Given the description of an element on the screen output the (x, y) to click on. 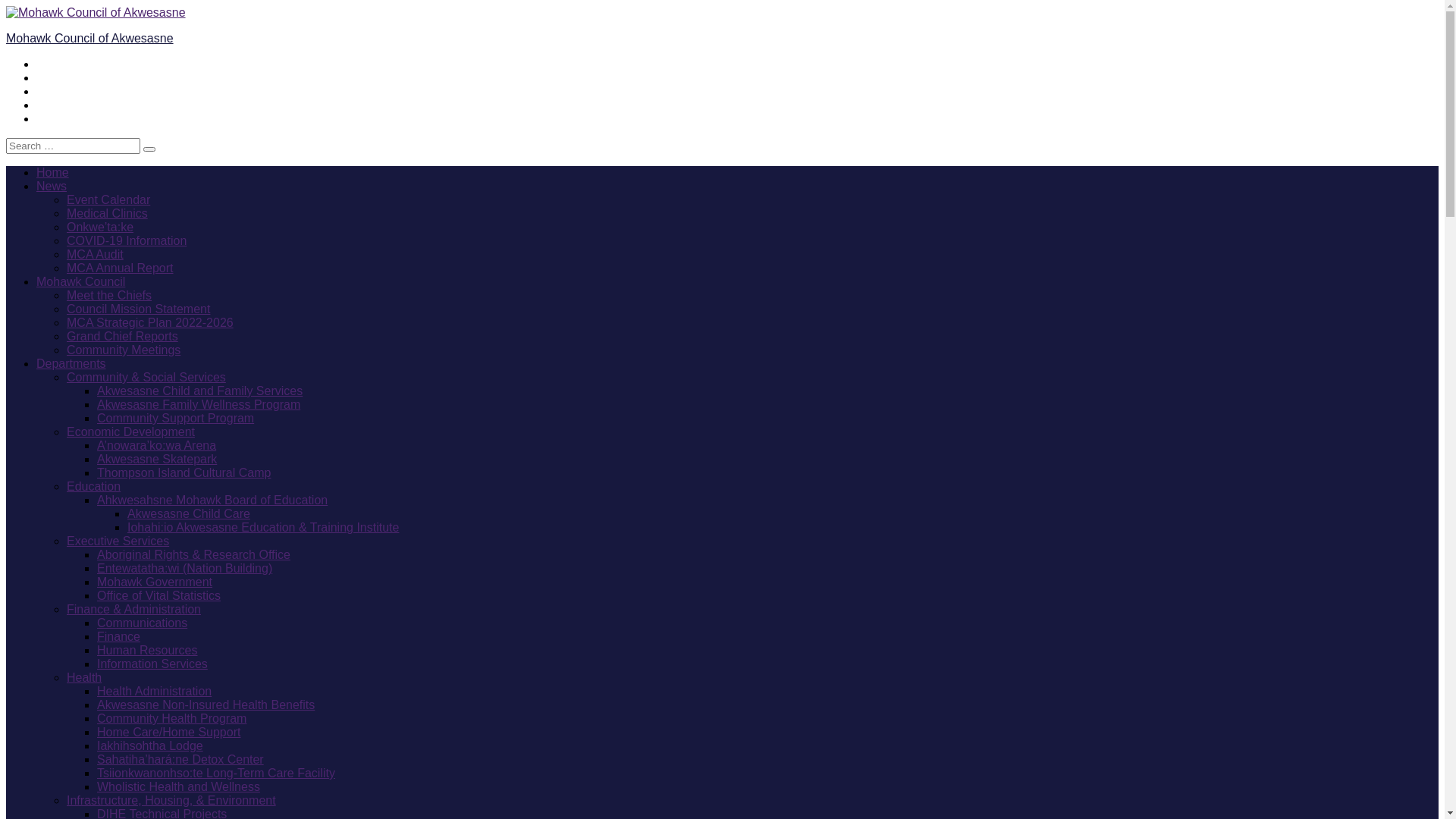
Wholistic Health and Wellness Element type: text (178, 786)
Medical Clinics Element type: text (106, 213)
Community Support Program Element type: text (175, 417)
Infrastructure, Housing, & Environment Element type: text (171, 799)
Akwesasne Child Care Element type: text (188, 513)
COVID-19 Information Element type: text (126, 240)
Akwesasne Family Wellness Program Element type: text (198, 404)
Office of Vital Statistics Element type: text (158, 595)
Health Administration Element type: text (154, 690)
Departments Element type: text (71, 363)
Home Care/Home Support Element type: text (168, 731)
Community & Social Services Element type: text (145, 376)
Home Element type: text (52, 172)
Mohawk Council Element type: text (80, 281)
Tsiionkwanonhso:te Long-Term Care Facility Element type: text (216, 772)
Akwesasne Non-Insured Health Benefits Element type: text (205, 704)
Education Element type: text (93, 486)
Community Meetings Element type: text (123, 349)
Information Services Element type: text (152, 663)
Human Resources Element type: text (147, 649)
Mohawk Council of Akwesasne Element type: text (89, 37)
Community Health Program Element type: text (171, 718)
Mohawk Government Element type: text (154, 581)
Iohahi:io Akwesasne Education & Training Institute Element type: text (262, 526)
MCA Annual Report Element type: text (119, 267)
Council Mission Statement Element type: text (138, 308)
Meet the Chiefs Element type: text (108, 294)
Finance Element type: text (118, 636)
Grand Chief Reports Element type: text (122, 335)
News Element type: text (51, 185)
Akwesasne Child and Family Services Element type: text (199, 390)
Economic Development Element type: text (130, 431)
Akwesasne Skatepark Element type: text (156, 458)
MCA Strategic Plan 2022-2026 Element type: text (149, 322)
Ahkwesahsne Mohawk Board of Education Element type: text (212, 499)
Aboriginal Rights & Research Office Element type: text (193, 554)
Entewatatha:wi (Nation Building) Element type: text (184, 567)
Health Element type: text (83, 677)
Iakhihsohtha Lodge Element type: text (150, 745)
Finance & Administration Element type: text (133, 608)
Event Calendar Element type: text (108, 199)
Thompson Island Cultural Camp Element type: text (183, 472)
Executive Services Element type: text (117, 540)
MCA Audit Element type: text (94, 253)
Communications Element type: text (142, 622)
